Given the description of an element on the screen output the (x, y) to click on. 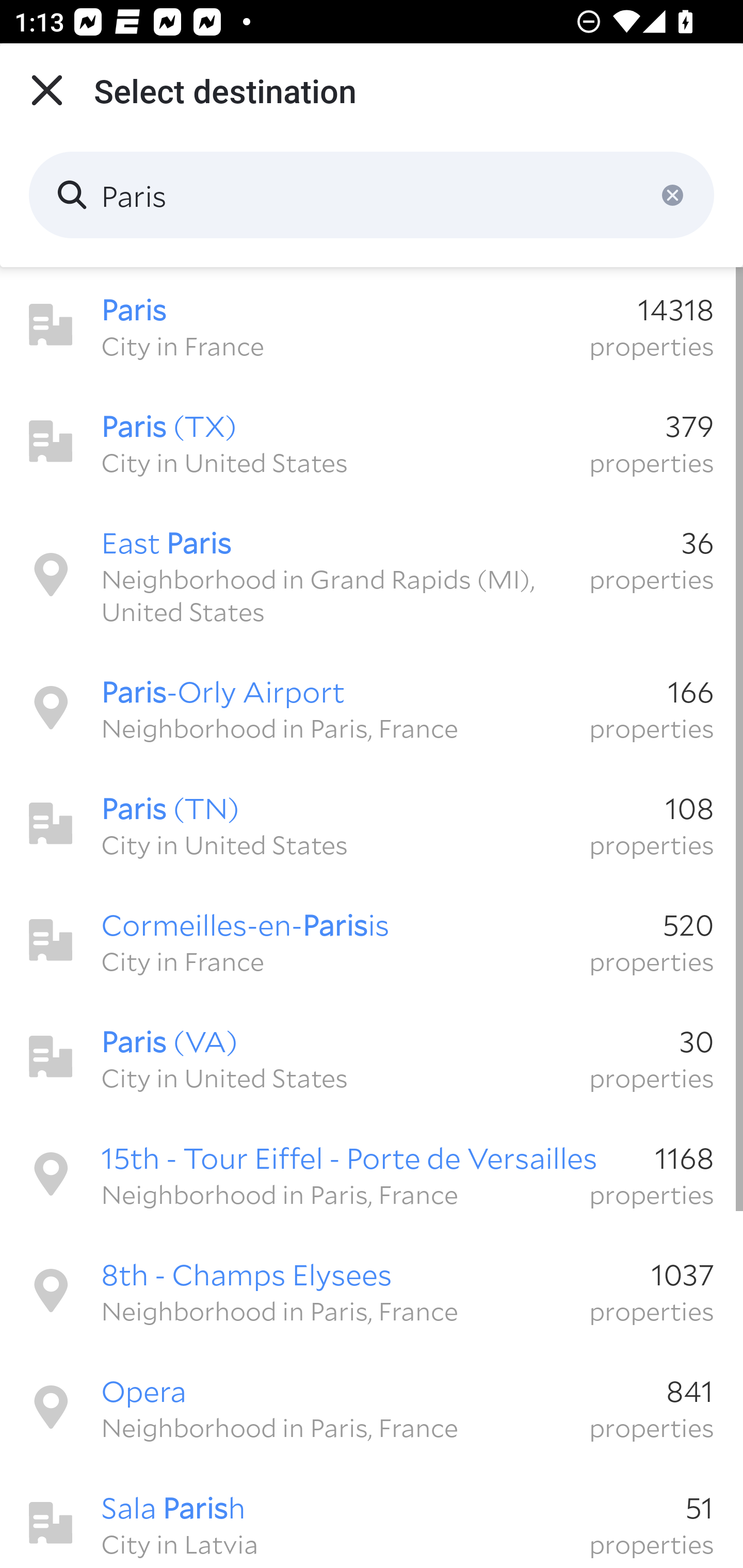
Paris (371, 195)
Paris 14318 City in France properties (371, 325)
Paris (TX) 379 City in United States properties (371, 442)
Paris (TN) 108 City in United States properties (371, 823)
Paris (VA) 30 City in United States properties (371, 1057)
Opera 841 Neighborhood in Paris, France properties (371, 1407)
Sala Parish 51 City in Latvia properties (371, 1517)
